Given the description of an element on the screen output the (x, y) to click on. 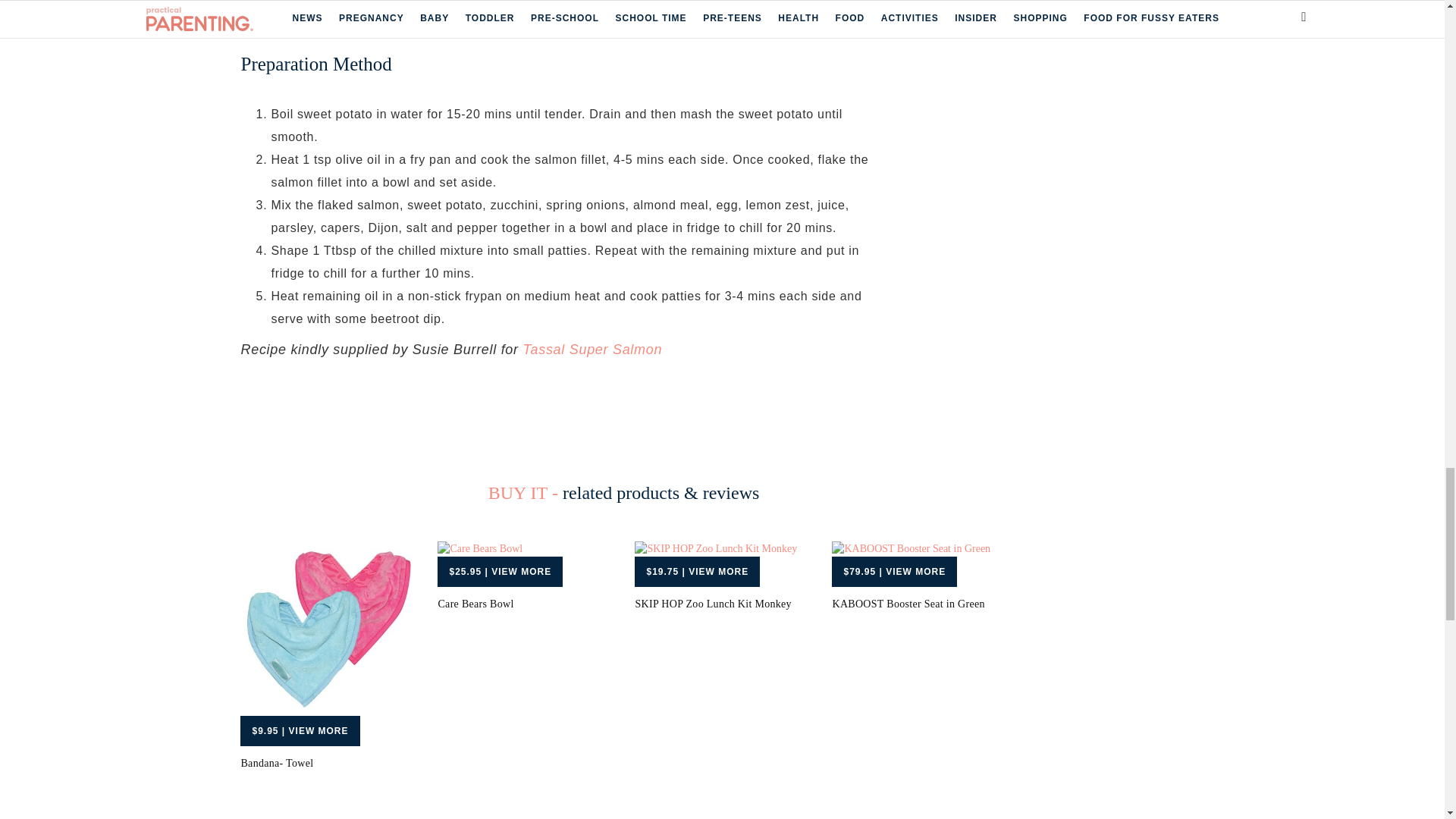
View (299, 730)
View (893, 571)
View (697, 571)
View (500, 571)
